Given the description of an element on the screen output the (x, y) to click on. 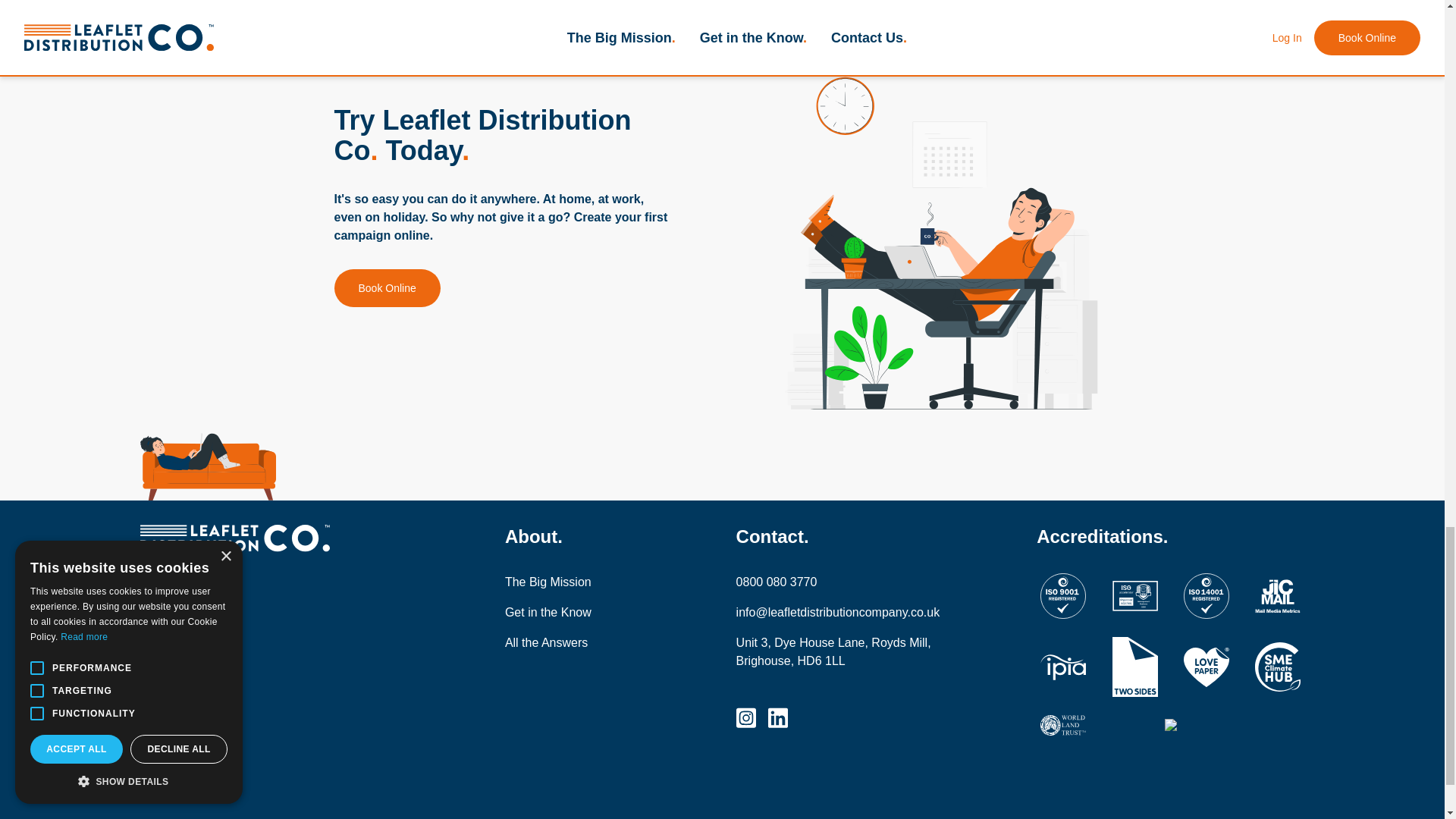
Leaflet Distribution Company (273, 537)
The Big Mission (572, 582)
Get in the Know (572, 612)
0800 080 3770 (838, 582)
All the Answers (572, 642)
Book Online (386, 288)
The Big Mission (572, 582)
